Given the description of an element on the screen output the (x, y) to click on. 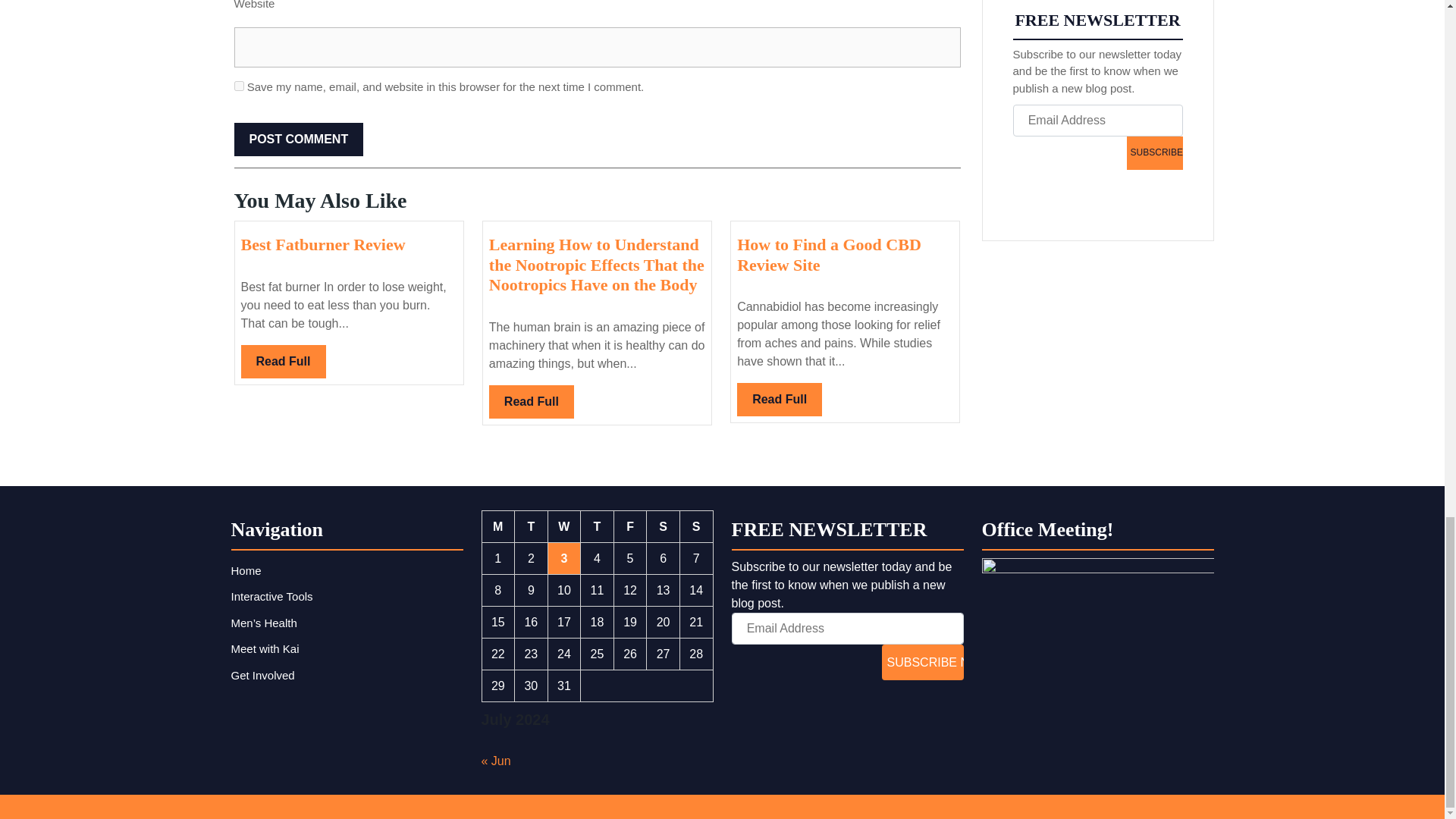
SUBSCRIBE NOW (922, 662)
Wednesday (564, 526)
Tuesday (531, 526)
Post Comment (297, 139)
Saturday (662, 526)
Monday (498, 526)
Post Comment (323, 244)
SUBSCRIBE NOW (531, 401)
yes (297, 139)
Sunday (1154, 152)
SUBSCRIBE NOW (237, 85)
